Given the description of an element on the screen output the (x, y) to click on. 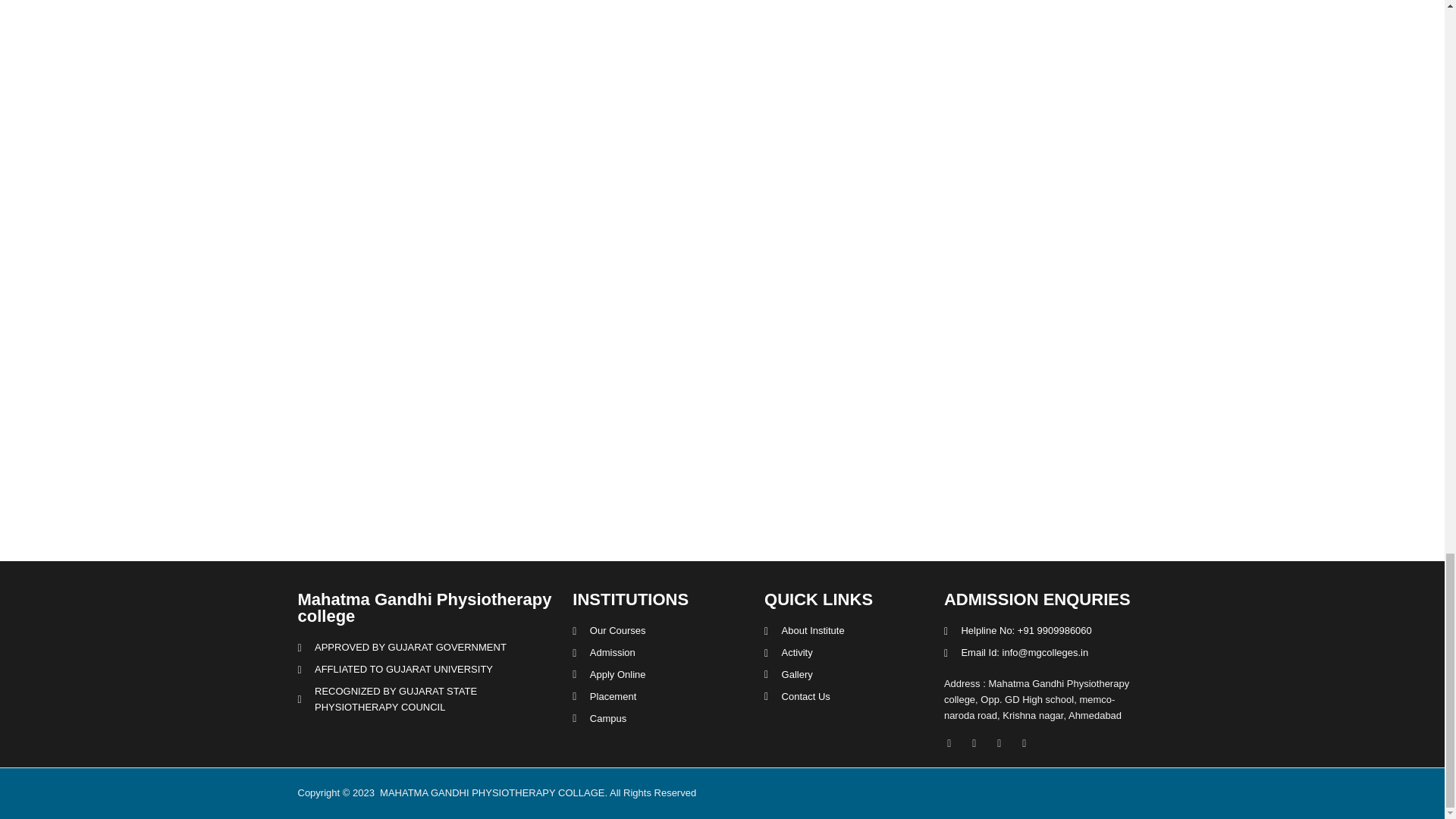
About Institute (846, 631)
Placement (660, 697)
Apply Online (660, 675)
Activity (846, 652)
Contact Us (846, 697)
Admission (660, 652)
Our Courses (660, 631)
Gallery (846, 675)
Campus (660, 719)
